Given the description of an element on the screen output the (x, y) to click on. 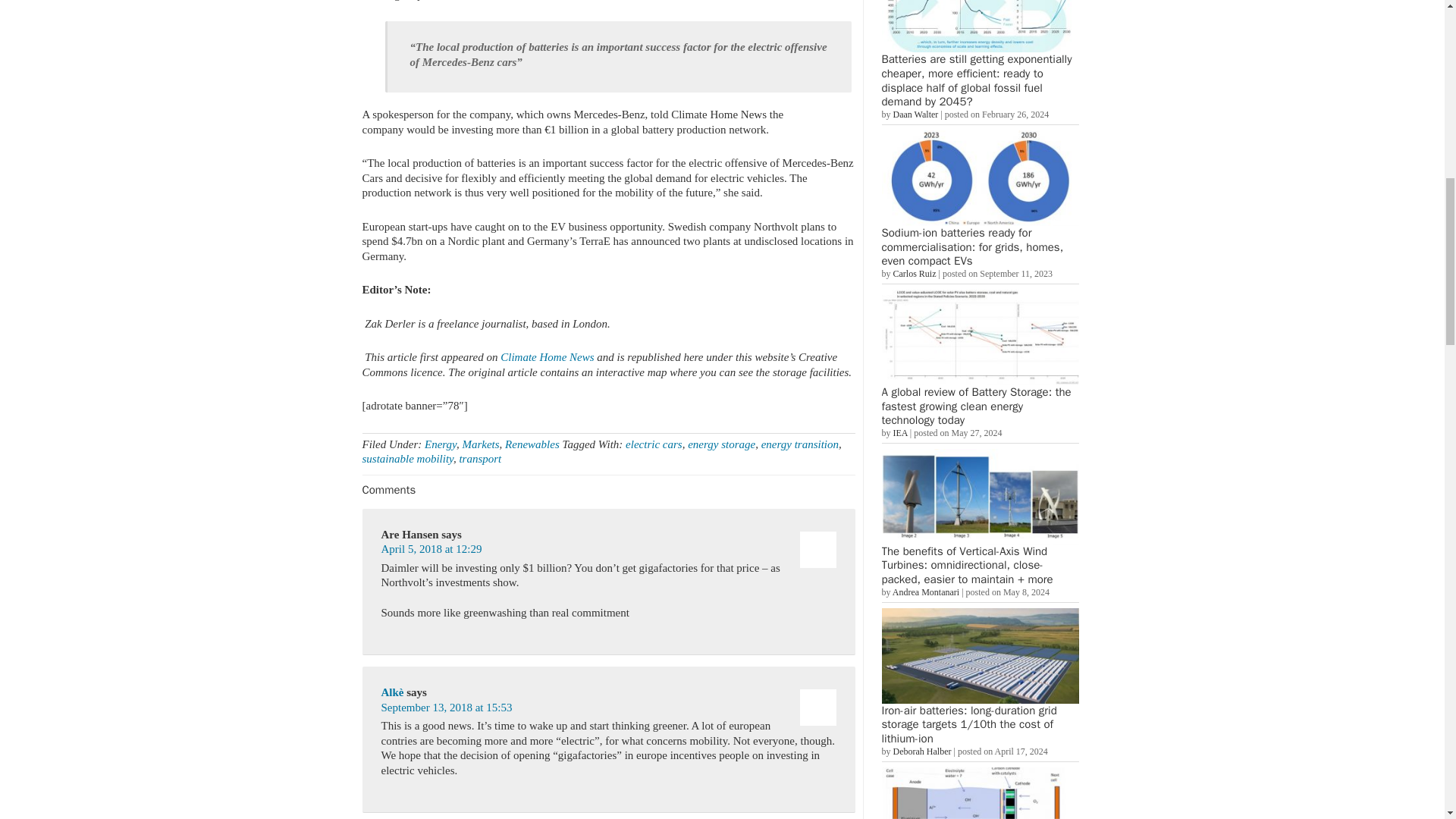
transport (479, 458)
April 5, 2018 at 12:29 (430, 548)
Renewables (532, 444)
electric cars (654, 444)
Markets (480, 444)
sustainable mobility (407, 458)
September 13, 2018 at 15:53 (446, 706)
energy transition (799, 444)
energy storage (721, 444)
Energy (441, 444)
